Given the description of an element on the screen output the (x, y) to click on. 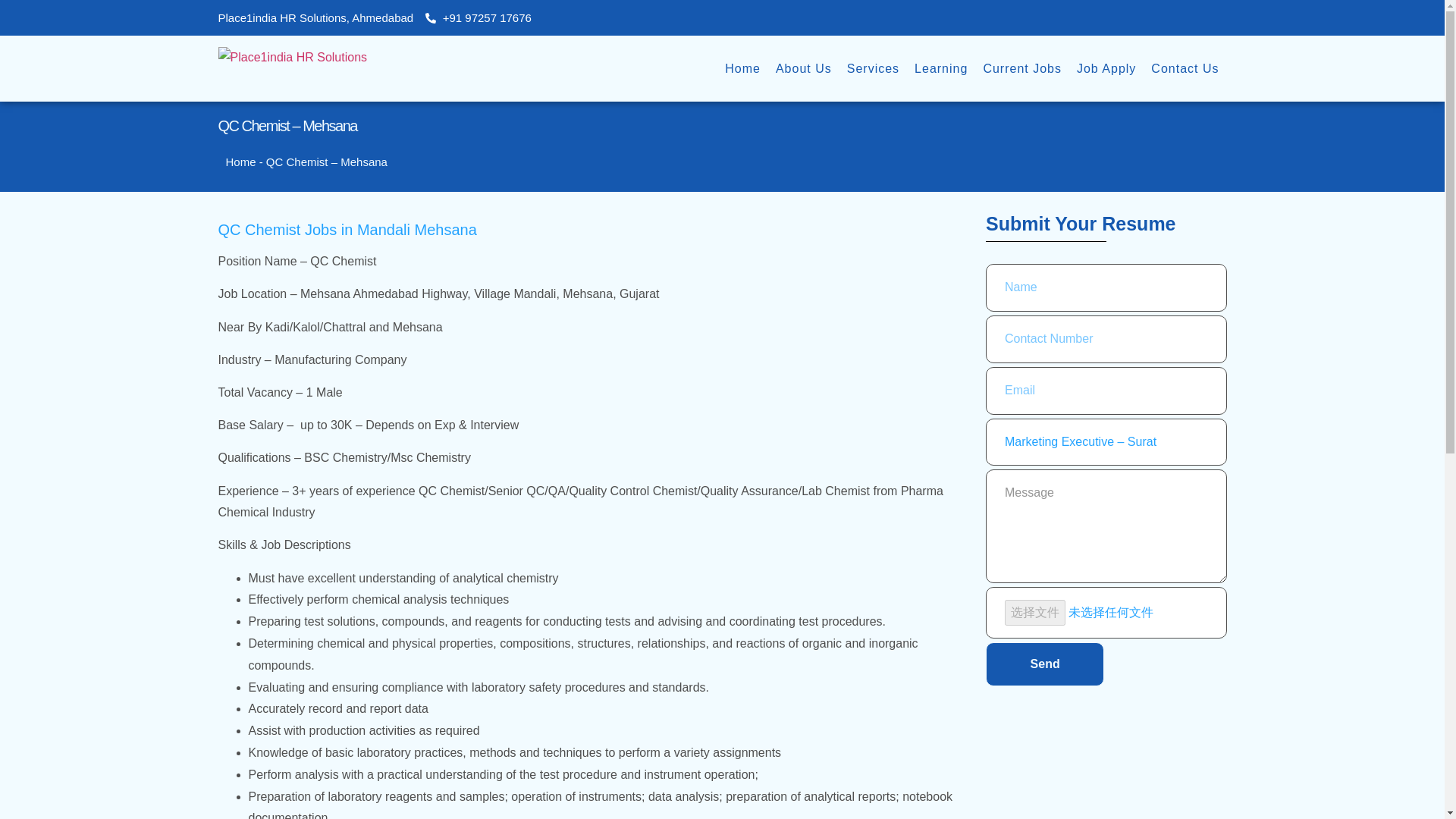
Job Apply (1105, 69)
About Us (804, 69)
Contact Us (1183, 69)
Home (742, 69)
Services (873, 69)
Current Jobs (1021, 69)
Learning (941, 69)
